Given the description of an element on the screen output the (x, y) to click on. 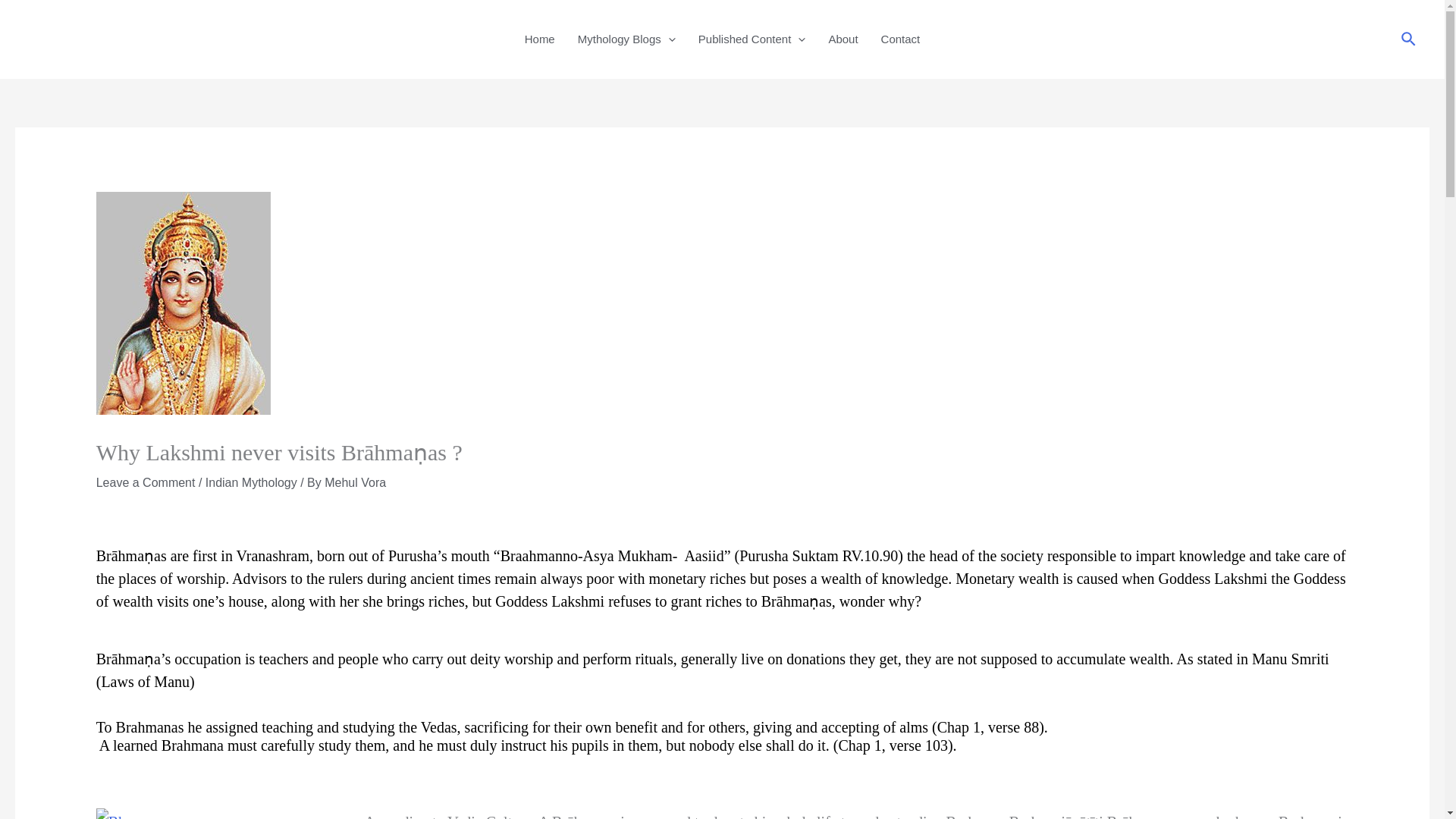
Home (539, 39)
View all posts by Mehul Vora (354, 481)
Mythology Blogs (626, 39)
Published Content (751, 39)
